Given the description of an element on the screen output the (x, y) to click on. 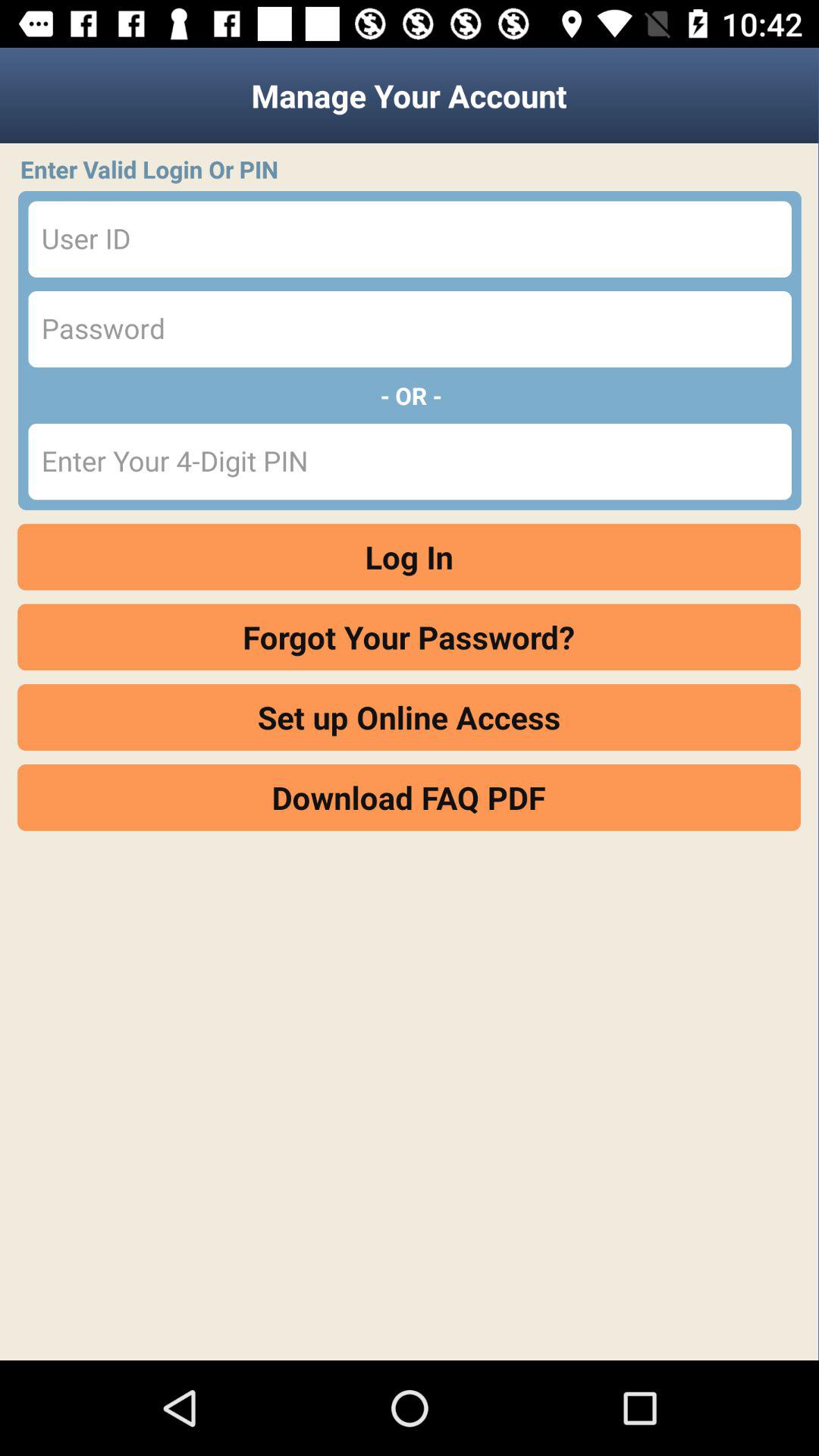
select the 4 digit pin field (409, 461)
